Given the description of an element on the screen output the (x, y) to click on. 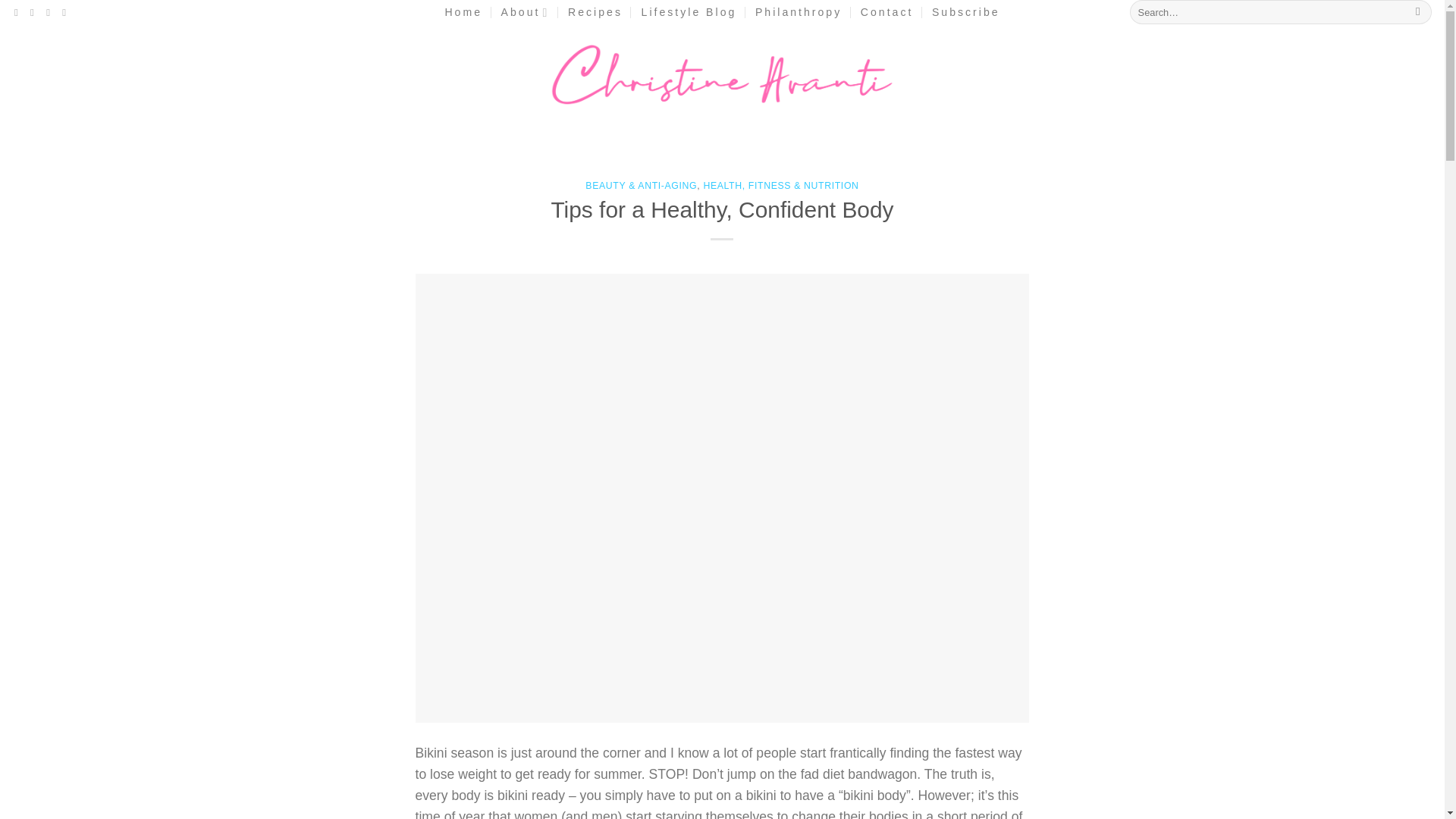
Lifestyle Blog (689, 12)
About (525, 12)
Contact (887, 12)
Philanthropy (798, 12)
Home (462, 12)
Recipes (595, 12)
Subscribe (965, 12)
Sign up to receive recipes straight to your inbox. (965, 12)
